Given the description of an element on the screen output the (x, y) to click on. 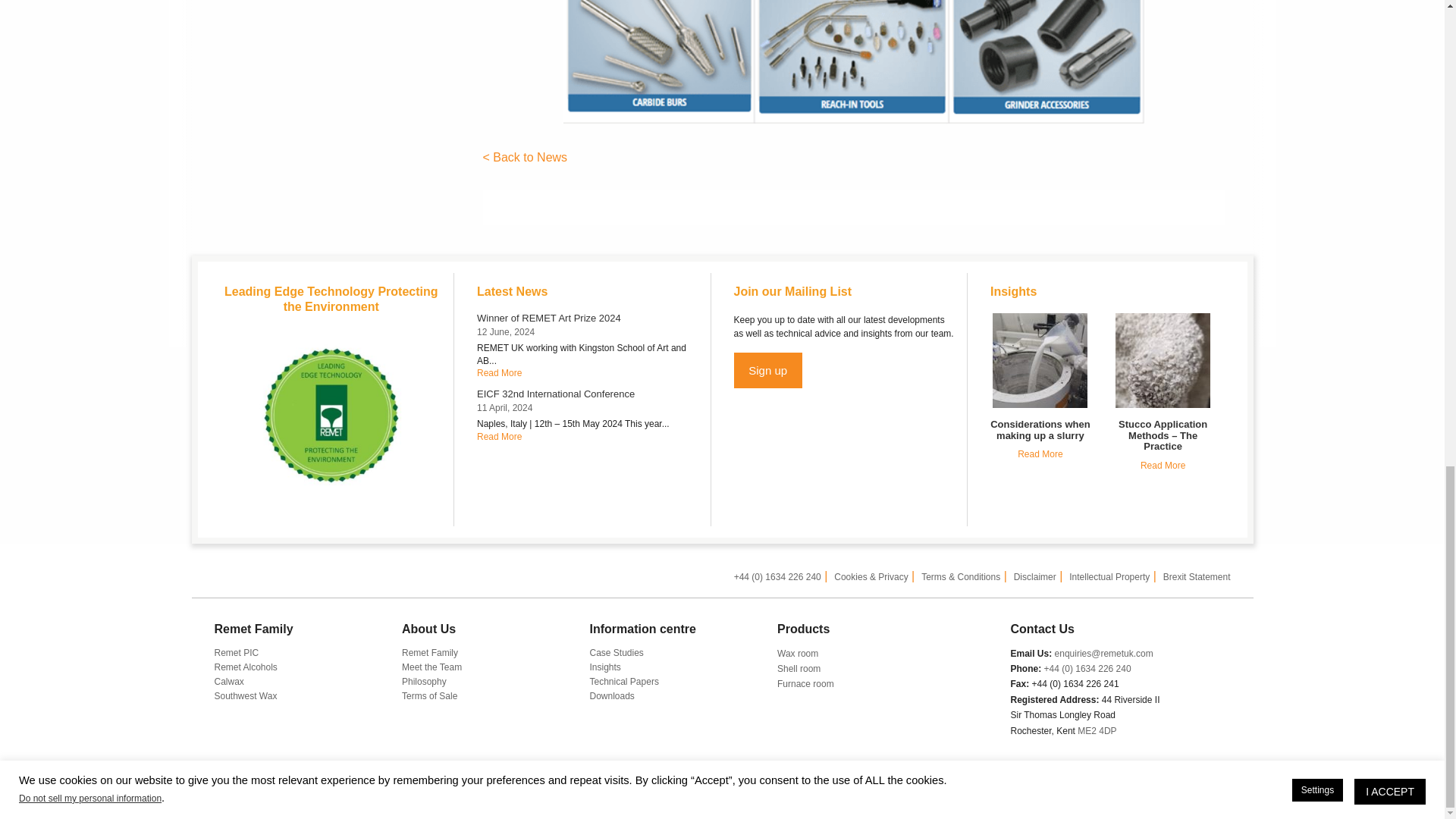
Read more (499, 372)
Read more (499, 436)
